Given the description of an element on the screen output the (x, y) to click on. 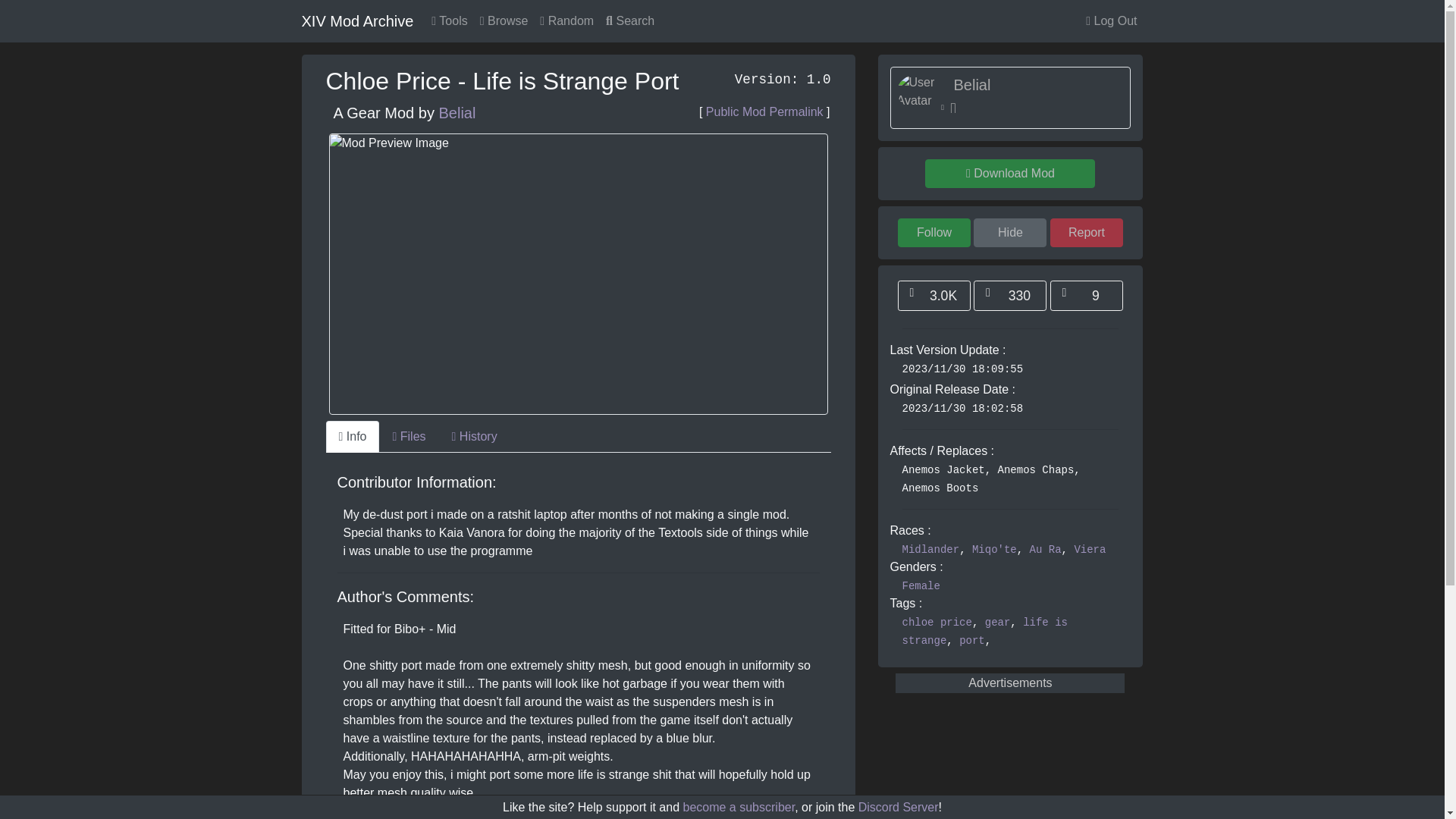
Au Ra (1045, 549)
Public Mod Permalink (765, 111)
Download Mod (1009, 173)
XIV Mod Archive (357, 20)
Download Mod (1009, 172)
gear (997, 622)
Viera (1089, 549)
Search (630, 20)
Report (1085, 232)
Belial (971, 84)
chloe price (937, 622)
Files (408, 436)
Tools (449, 20)
Belial (457, 112)
Hide (1010, 232)
